Given the description of an element on the screen output the (x, y) to click on. 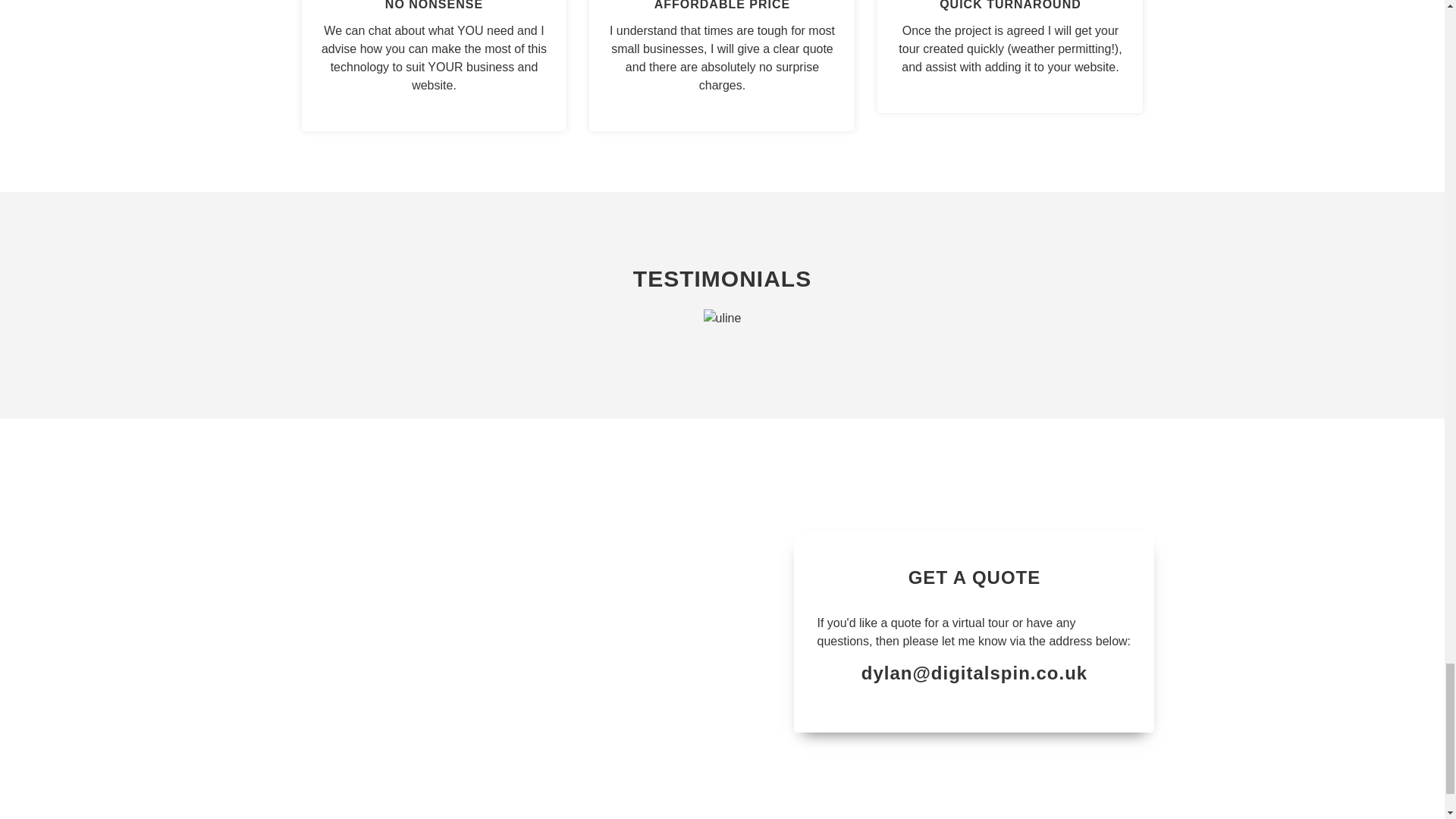
NO NONSENSE (434, 5)
QUICK TURNAROUND (1010, 5)
AFFORDABLE PRICE (721, 5)
